Given the description of an element on the screen output the (x, y) to click on. 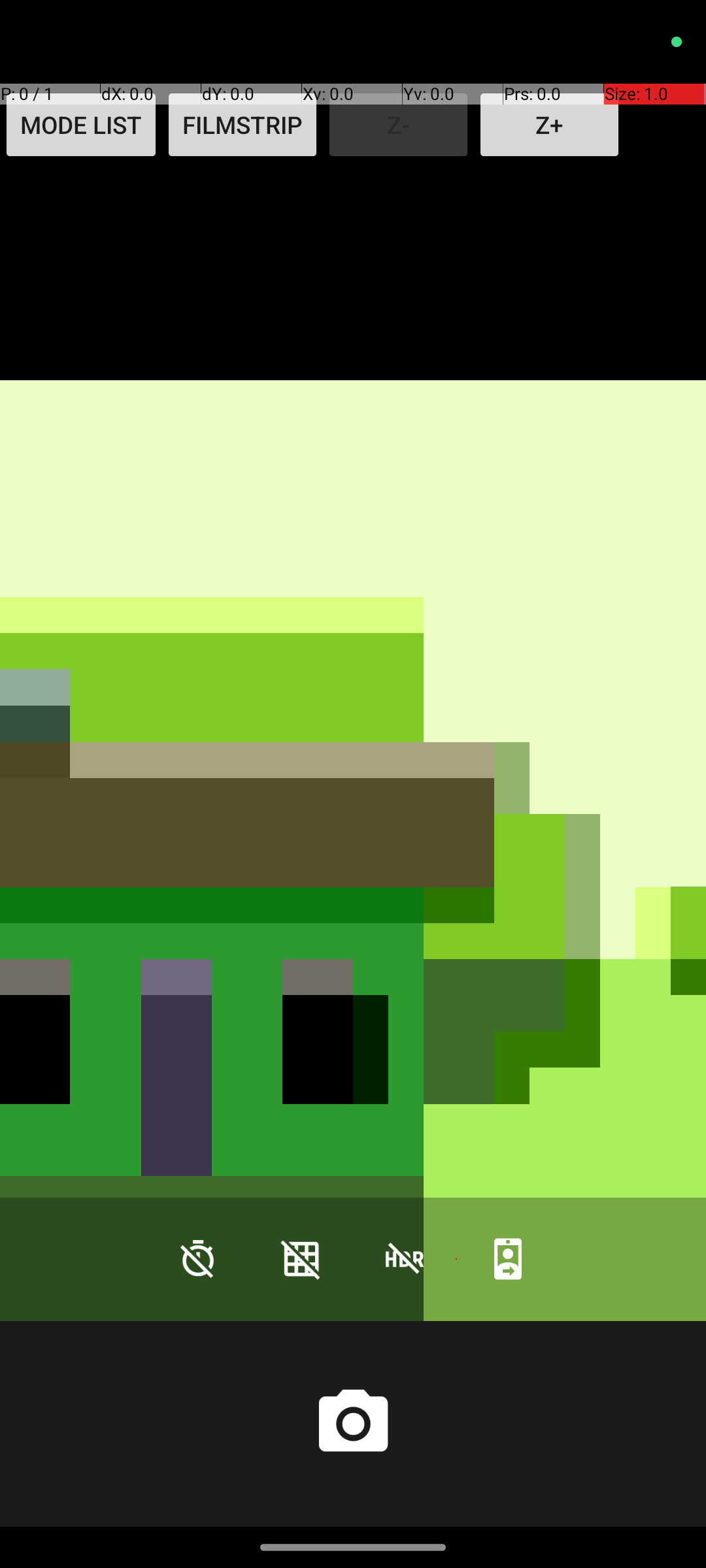
HDR off Element type: android.widget.ImageButton (404, 1258)
